Given the description of an element on the screen output the (x, y) to click on. 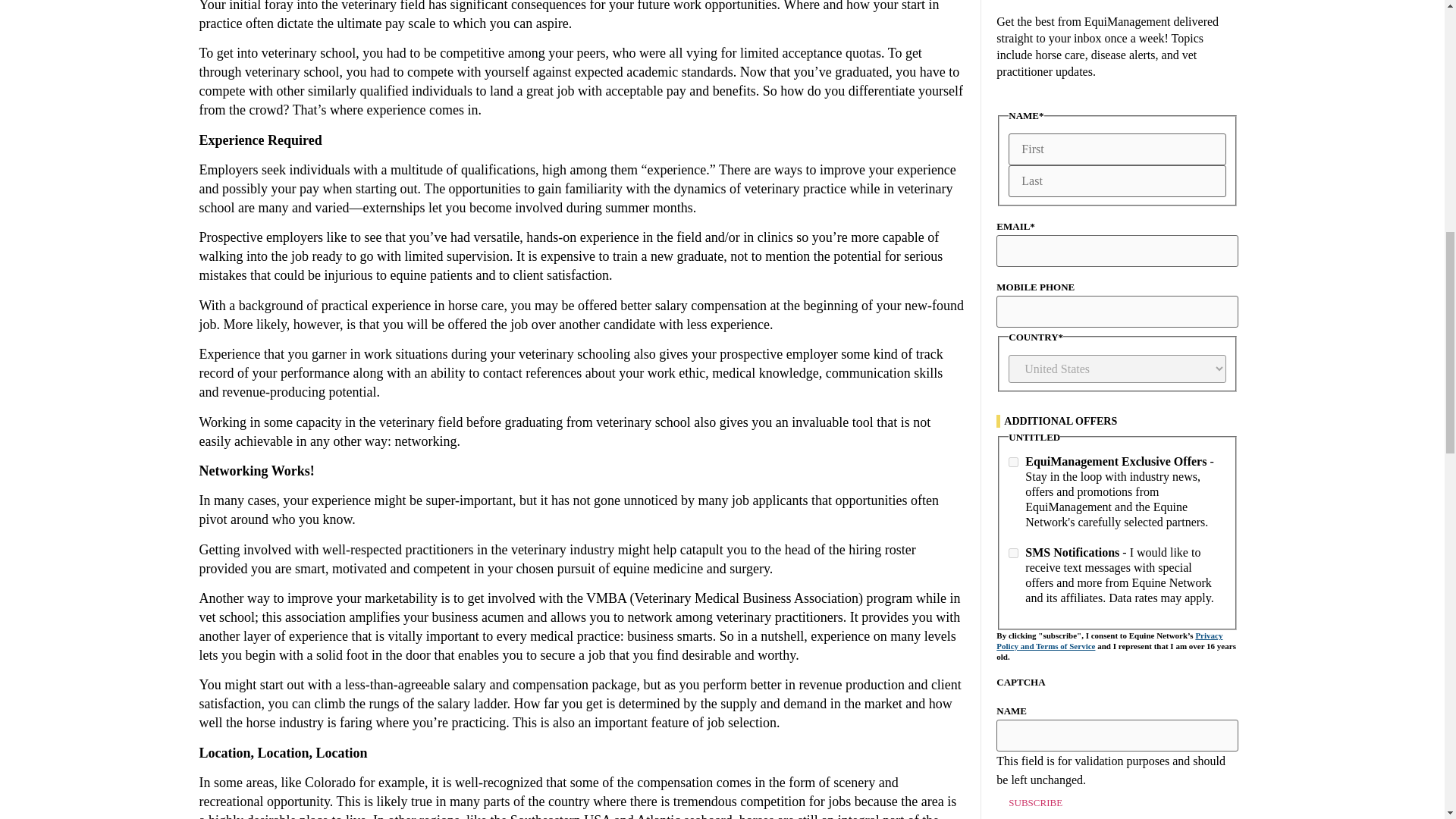
SMS Notifications (1013, 552)
157be729-a691-4459-9ca3-c1f10a60b90e (1013, 461)
Subscribe (1034, 802)
